Given the description of an element on the screen output the (x, y) to click on. 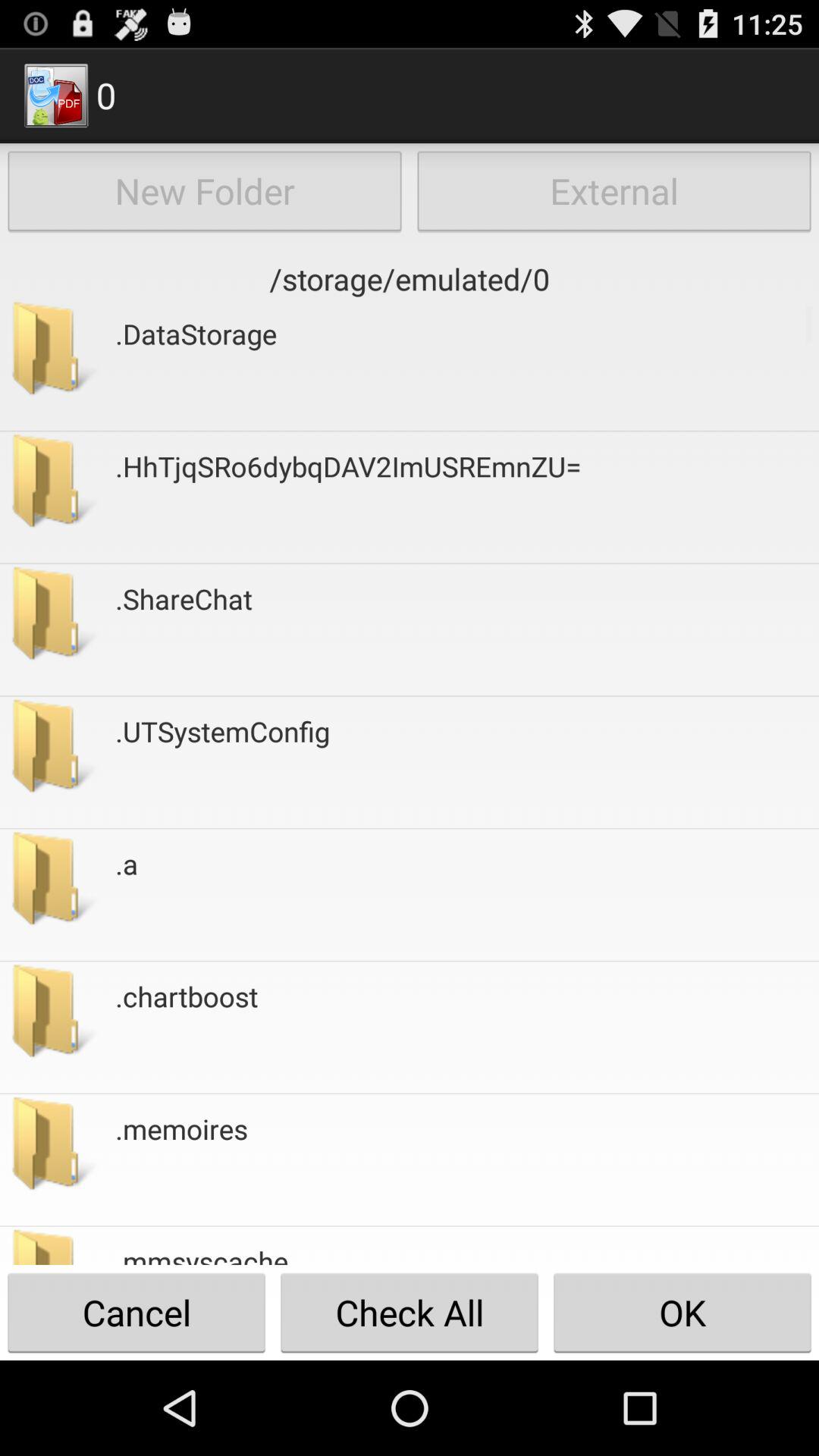
scroll until external icon (614, 190)
